Given the description of an element on the screen output the (x, y) to click on. 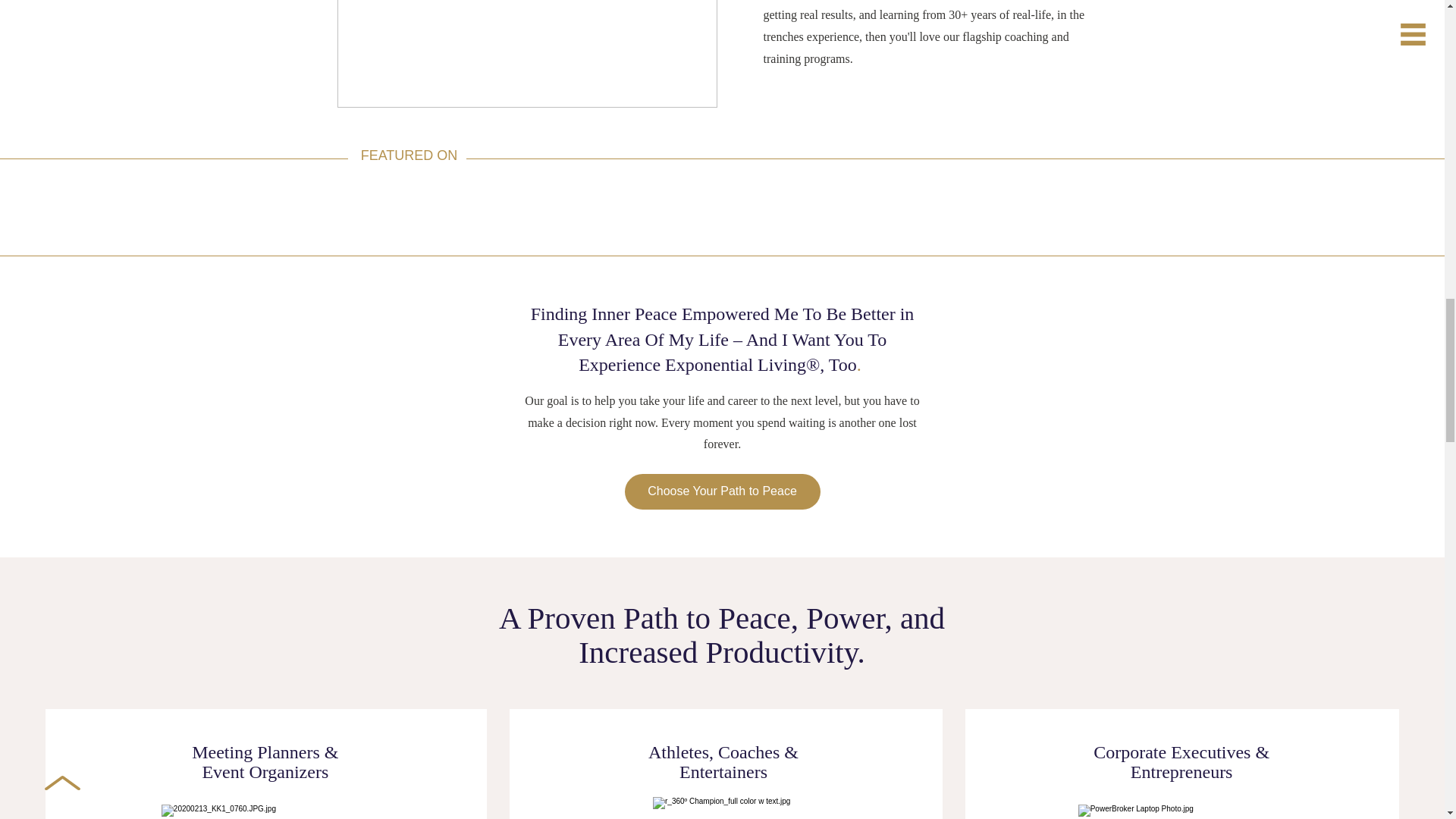
Choose Your Path to Peace (722, 491)
brick-wall-in-room-2000.jpg (526, 53)
